Given the description of an element on the screen output the (x, y) to click on. 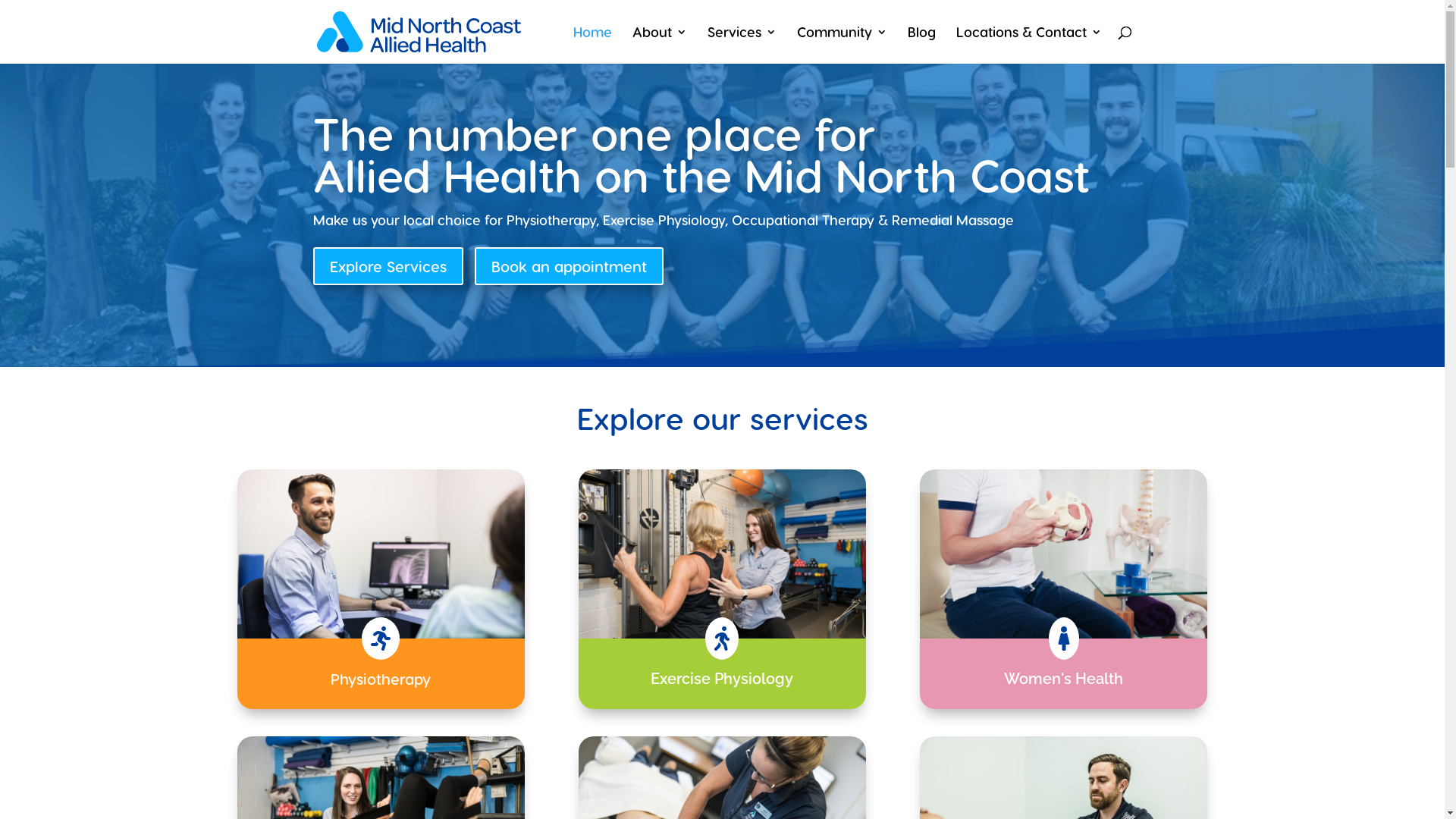
Explore Services Element type: text (387, 266)
Home Element type: text (592, 44)
Community Element type: text (841, 44)
Blog Element type: text (920, 44)
Locations & Contact Element type: text (1028, 44)
About Element type: text (659, 44)
Book an appointment Element type: text (568, 266)
Services Element type: text (740, 44)
